Given the description of an element on the screen output the (x, y) to click on. 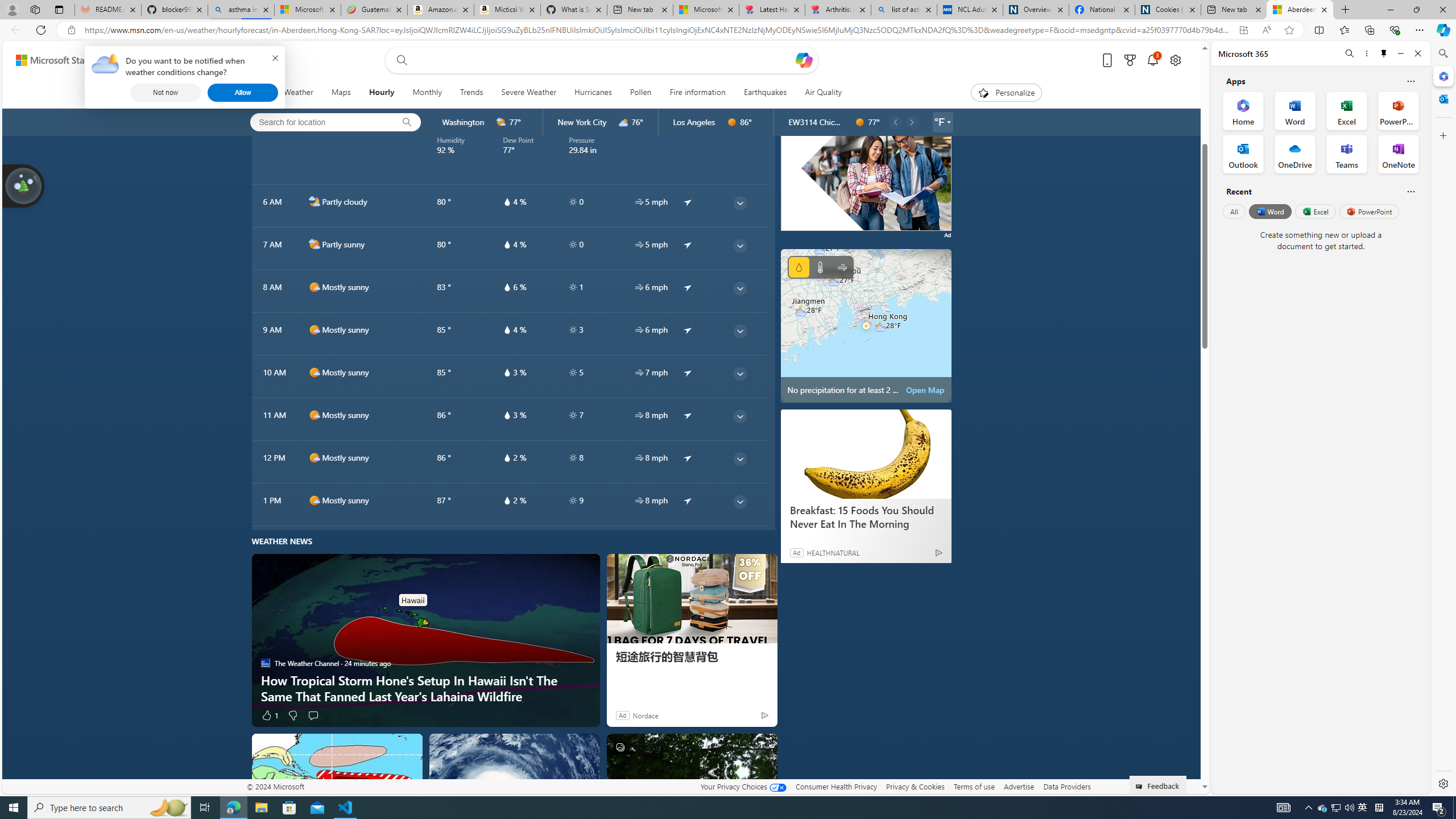
Maps (340, 92)
Earthquakes (765, 92)
static map image of vector map (866, 325)
AutomationID: canvas (866, 159)
d3000 (623, 121)
Trends (471, 92)
Severe Weather (528, 92)
